Given the description of an element on the screen output the (x, y) to click on. 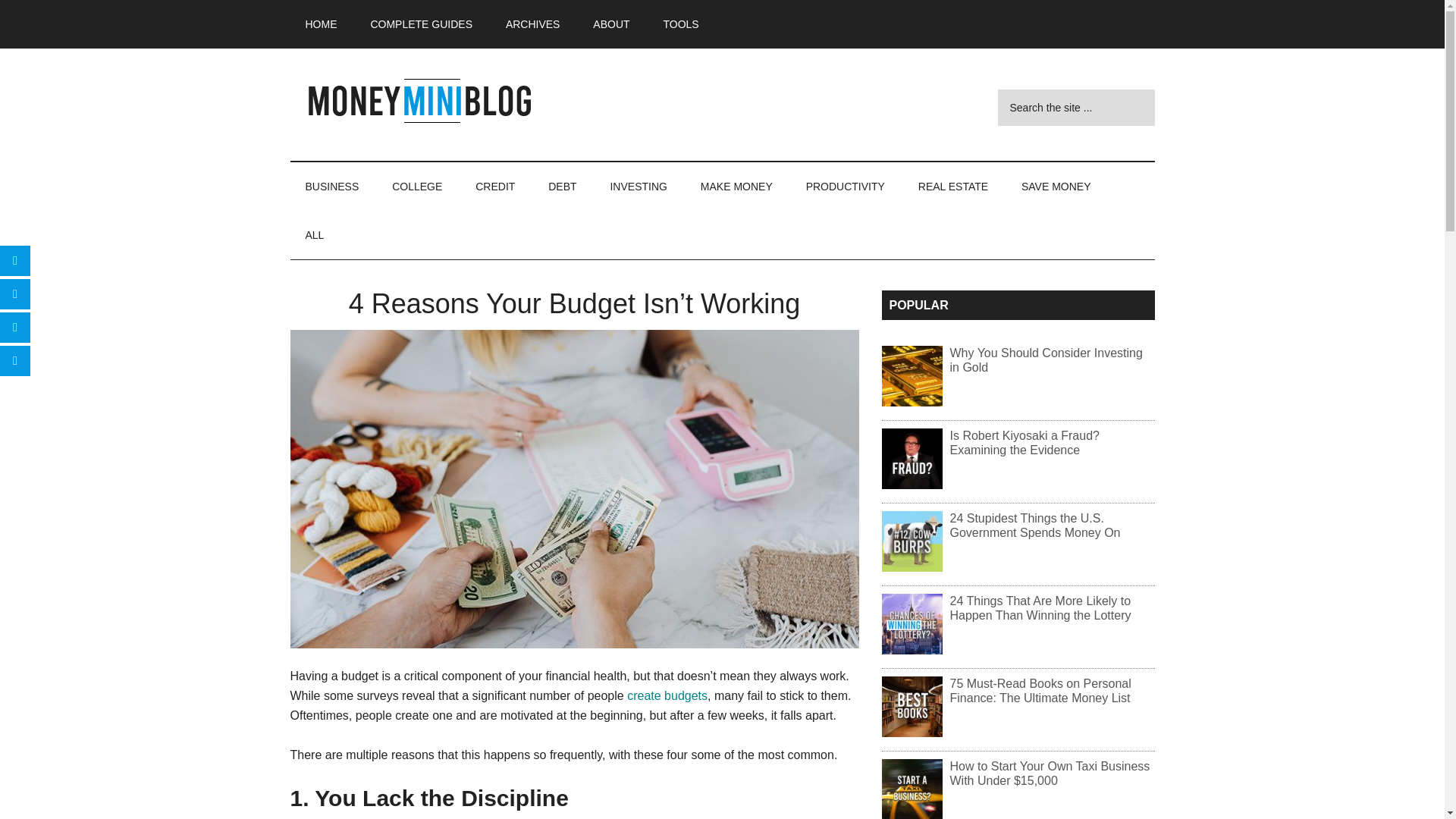
BUSINESS (331, 186)
INVESTING (637, 186)
MAKE MONEY (736, 186)
SAVE MONEY (1056, 186)
TOOLS (680, 24)
COLLEGE (417, 186)
HOME (320, 24)
